Given the description of an element on the screen output the (x, y) to click on. 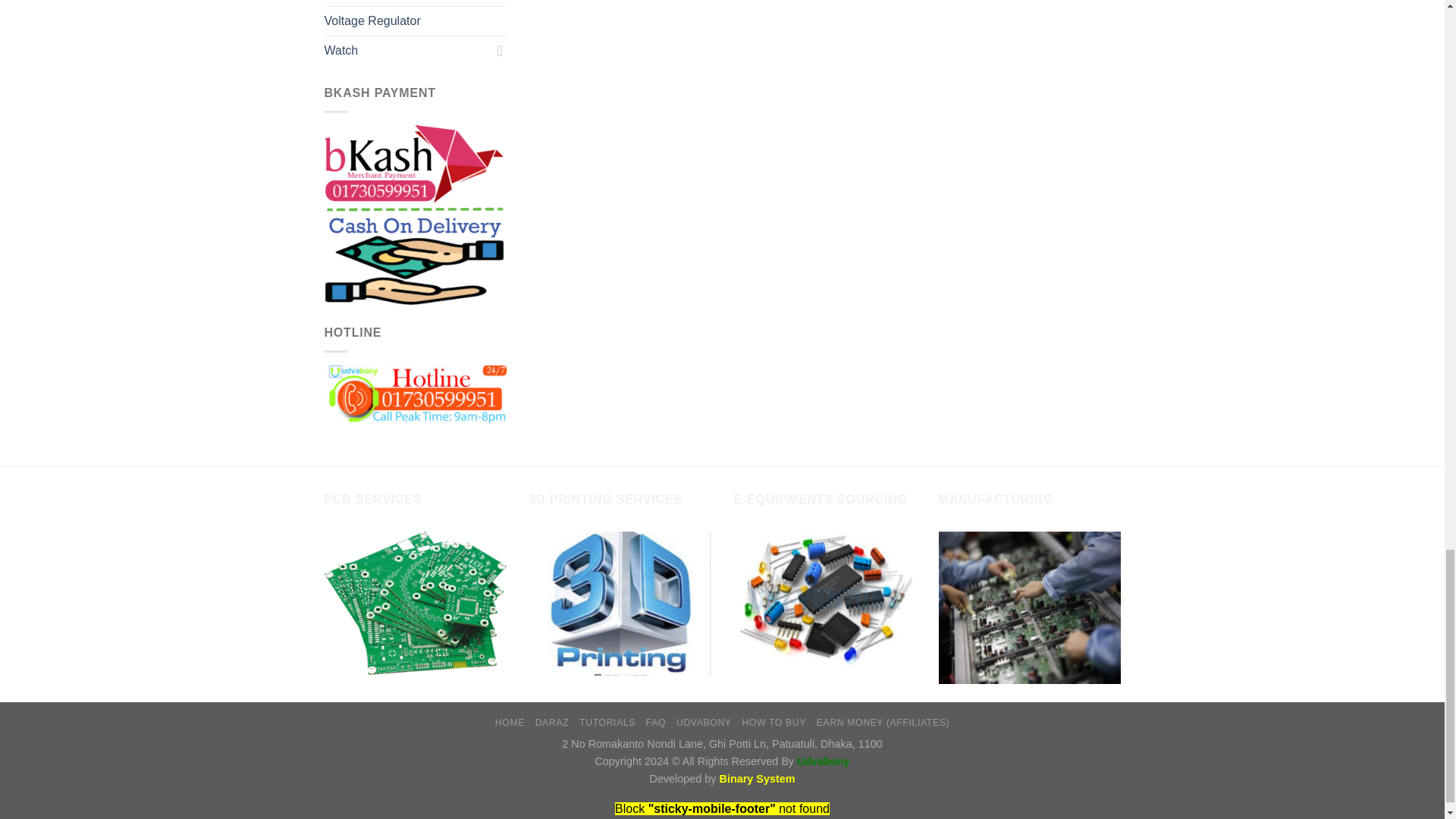
E-Equipments Sourcing (824, 598)
Manufacturing (1030, 607)
3D Printing Services (620, 603)
PCB Services (415, 602)
